Given the description of an element on the screen output the (x, y) to click on. 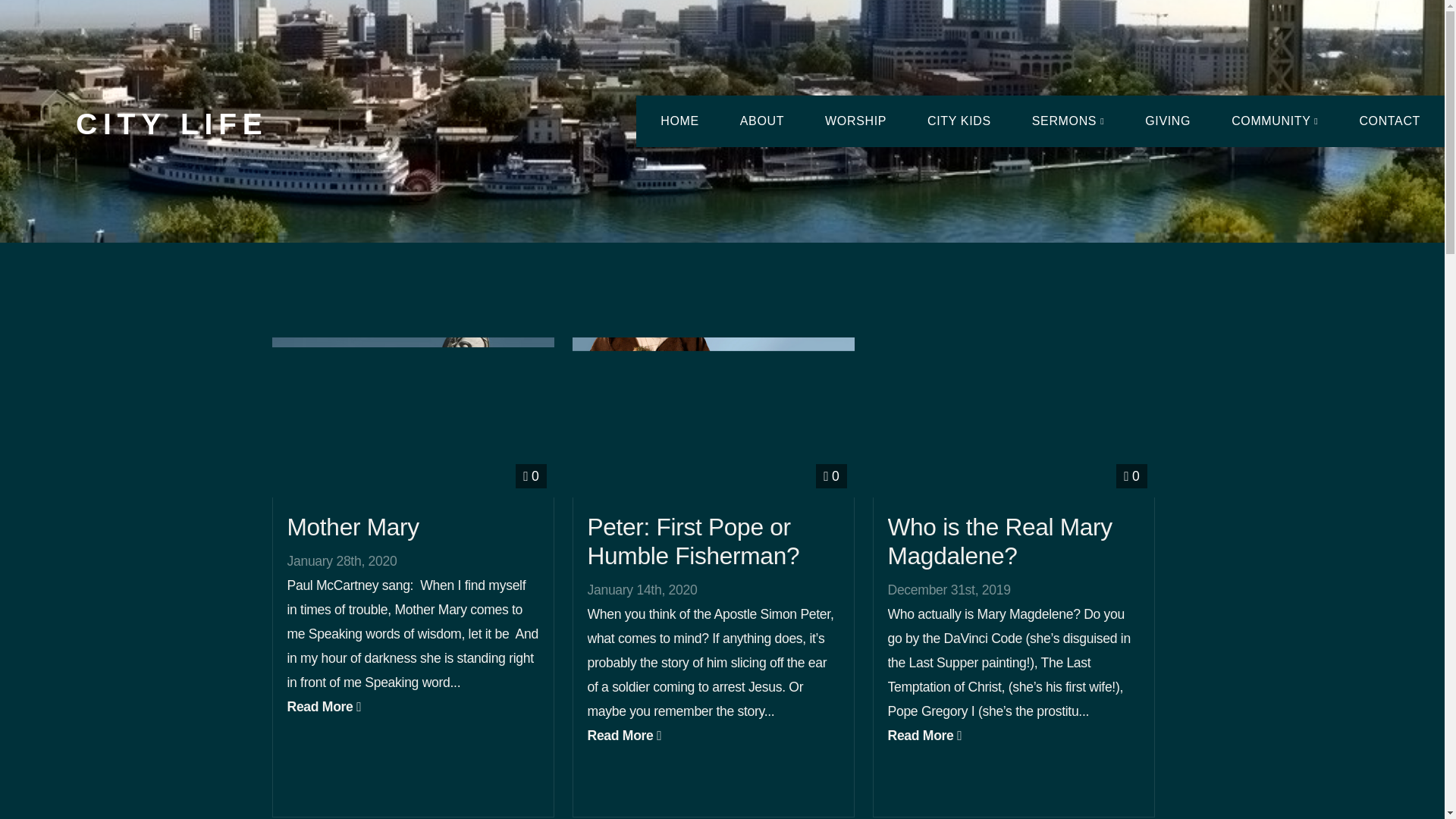
CITY KIDS (959, 121)
CITY LIFE (171, 123)
GIVING (1167, 121)
ABOUT (761, 121)
WORSHIP (855, 121)
CONTACT (1389, 121)
COMMUNITY  (1274, 121)
HOME (679, 121)
SERMONS  (1068, 121)
